Given the description of an element on the screen output the (x, y) to click on. 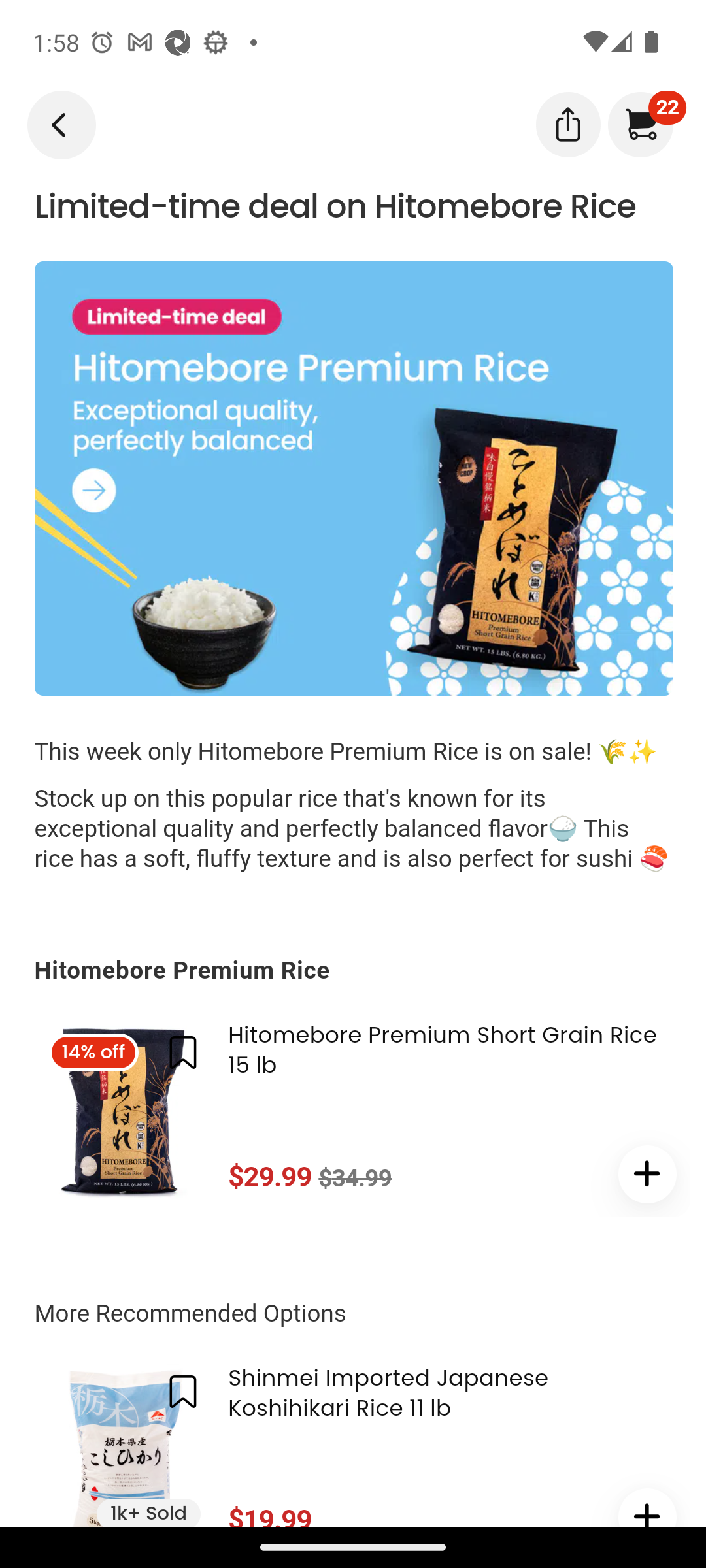
Weee! - Groceries Delivered (57, 123)
22 My cart (639, 124)
 (567, 123)
 (182, 1052)
 (647, 1173)
 (182, 1391)
 (647, 1507)
